Given the description of an element on the screen output the (x, y) to click on. 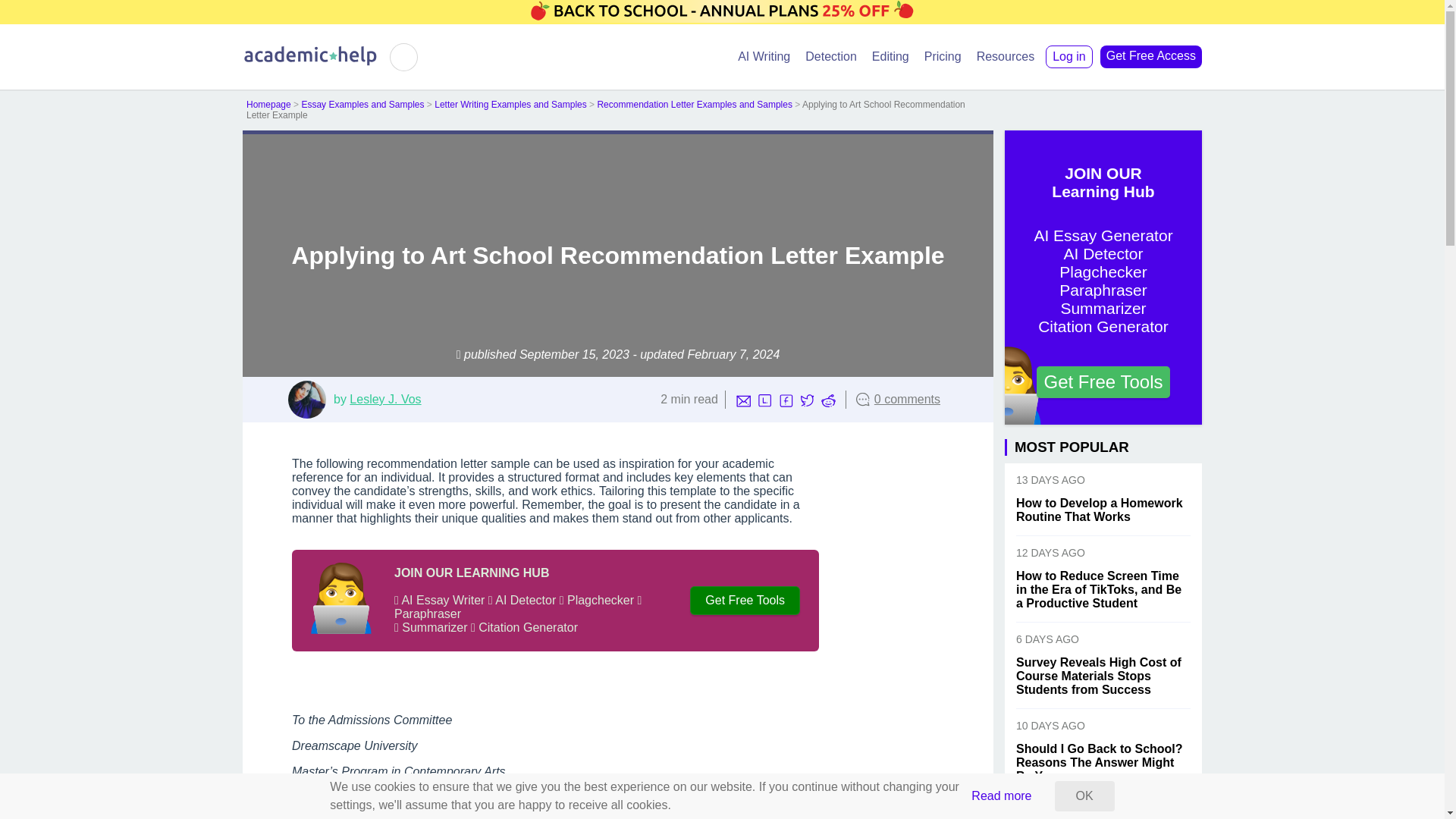
Detection (830, 56)
Get Free Access (1151, 56)
Go to AcademicHelp.net. (268, 104)
AcademicHelp.net (310, 62)
Log in (1069, 56)
Resources (1005, 56)
AI Writing (763, 56)
